Given the description of an element on the screen output the (x, y) to click on. 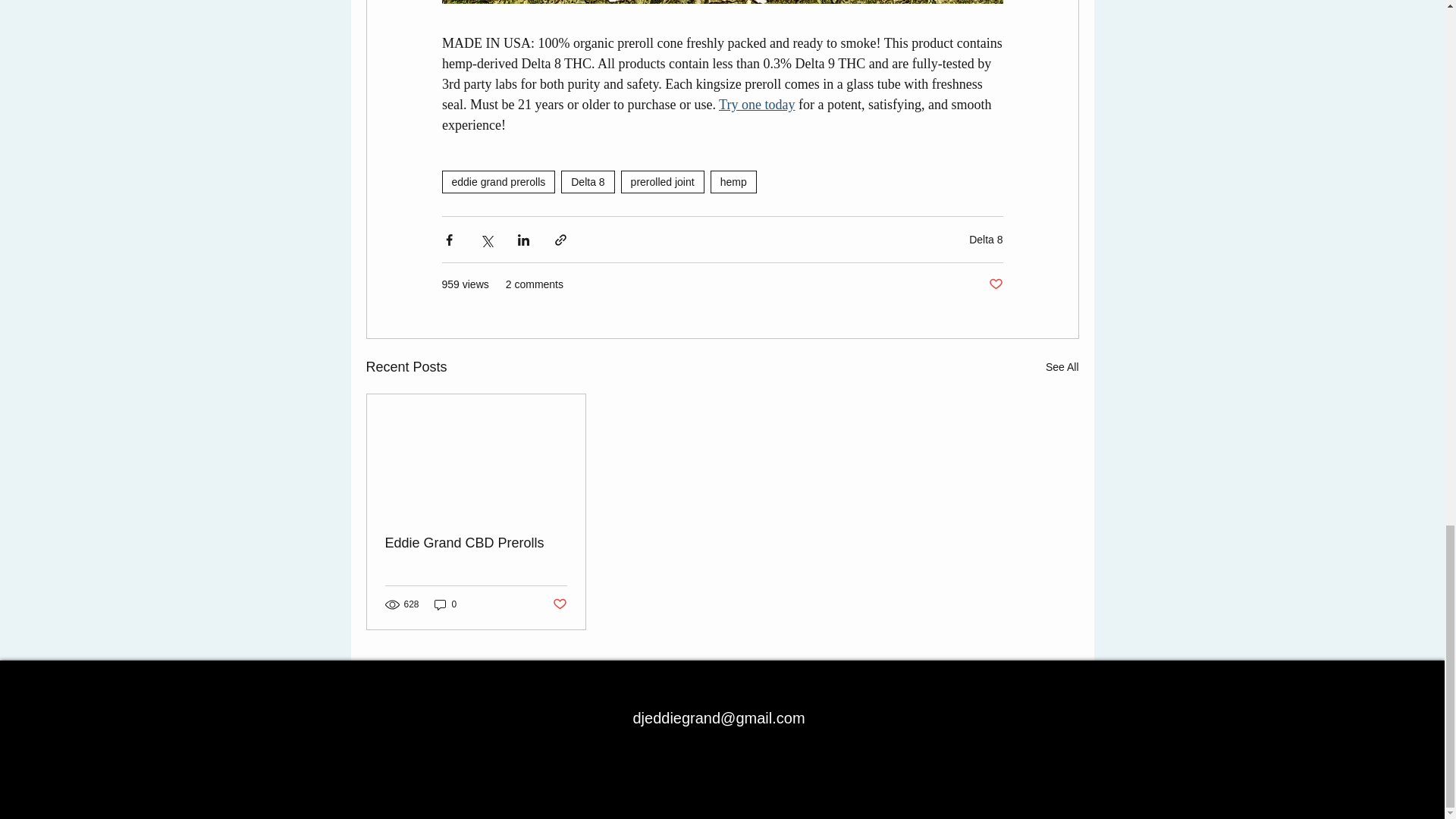
See All (1061, 367)
Post not marked as liked (995, 284)
Try one today (756, 104)
prerolled joint (662, 181)
hemp (733, 181)
Delta 8 (986, 239)
Eddie Grand CBD Prerolls (476, 543)
0 (445, 604)
eddie grand prerolls (497, 181)
Delta 8 (587, 181)
